Given the description of an element on the screen output the (x, y) to click on. 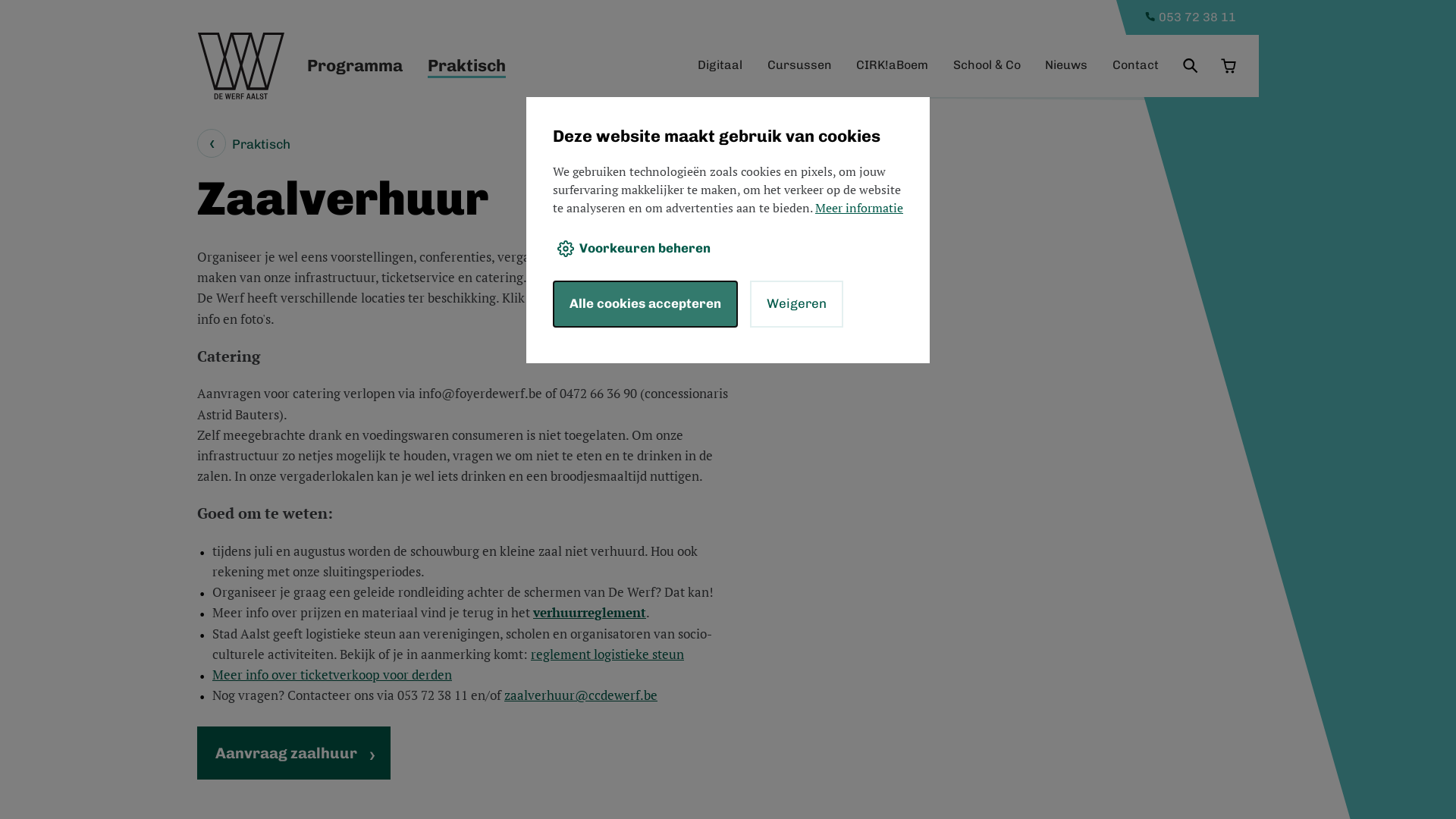
Contact Element type: text (1134, 64)
Weigeren Element type: text (796, 303)
Meer info over ticketverkoop voor derden Element type: text (331, 674)
053 72 38 11 Element type: text (1182, 16)
Programma Element type: text (354, 65)
Meer informatie Element type: text (859, 207)
CIRK!aBoem Element type: text (892, 64)
Aanvraag zaalhuur Element type: text (293, 752)
Cursussen Element type: text (799, 64)
Voorkeuren beheren Element type: text (633, 248)
Praktisch Element type: text (466, 65)
Nieuws Element type: text (1065, 64)
Digitaal Element type: text (719, 64)
reglement logistieke steun Element type: text (607, 653)
verhuurreglement Element type: text (589, 612)
Alle cookies accepteren Element type: text (644, 303)
zaalverhuur@ccdewerf.be Element type: text (580, 694)
Praktisch Element type: text (243, 143)
School & Co Element type: text (985, 64)
